Given the description of an element on the screen output the (x, y) to click on. 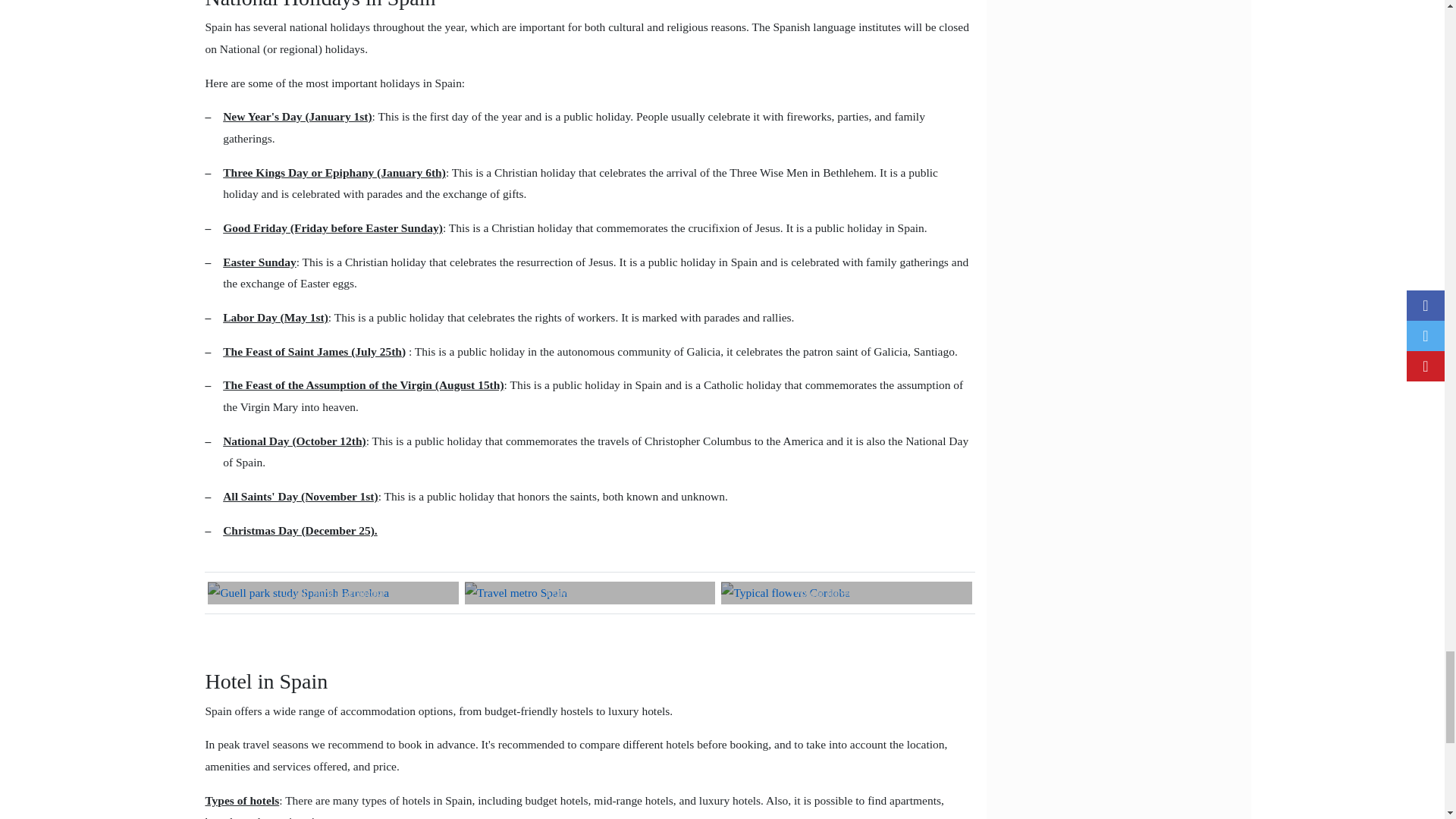
Travel metro Spain (515, 593)
Typical flowers Cordoba (785, 593)
Guell park study Spanish Barcelona (298, 593)
